Given the description of an element on the screen output the (x, y) to click on. 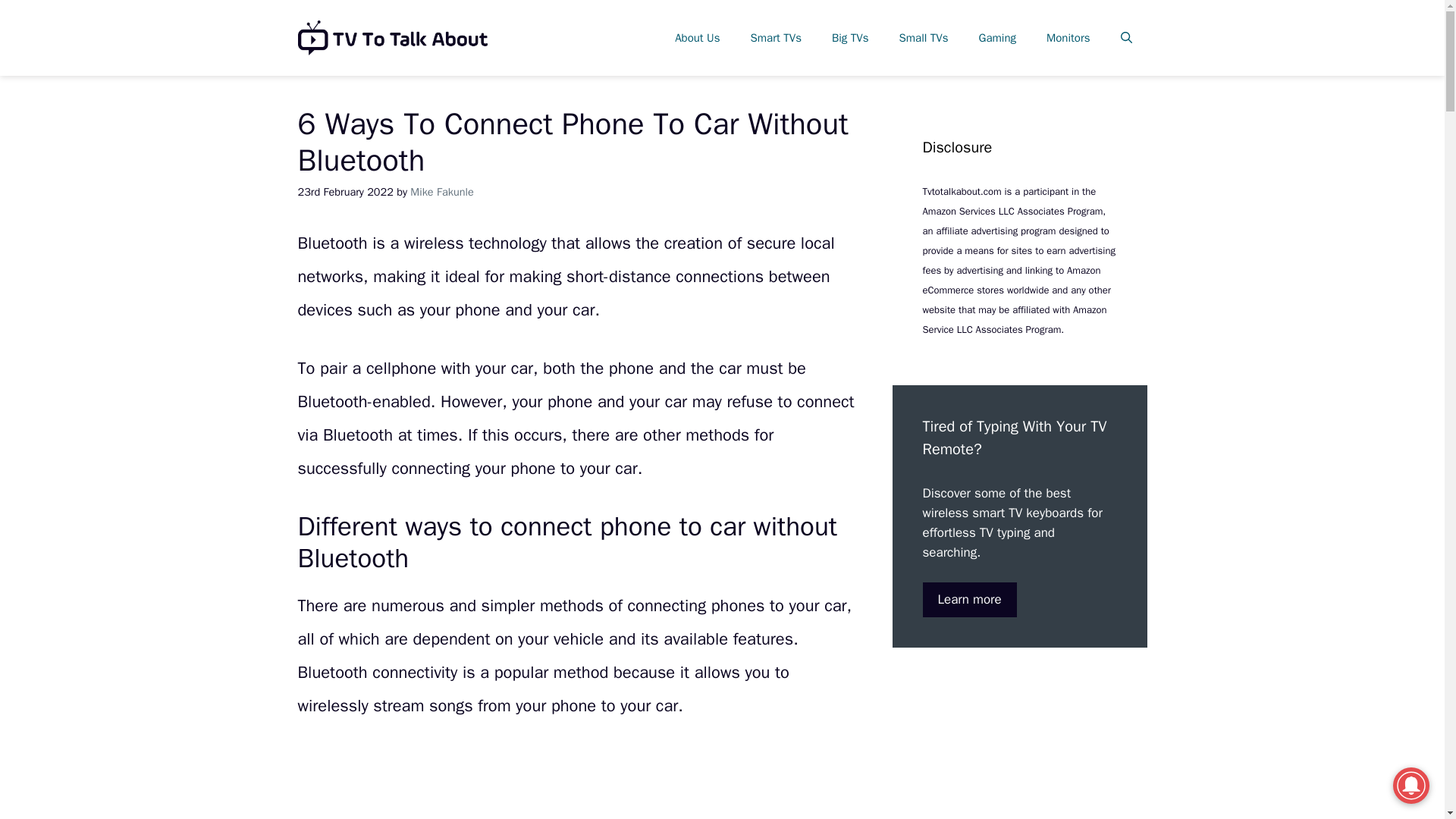
About Us (697, 37)
Gaming (996, 37)
Monitors (1067, 37)
TV To Talk About (391, 36)
View all posts by Mike Fakunle (441, 192)
TV To Talk About (391, 38)
Smart TVs (775, 37)
Big TVs (849, 37)
Mike Fakunle (441, 192)
Learn more (968, 599)
